Given the description of an element on the screen output the (x, y) to click on. 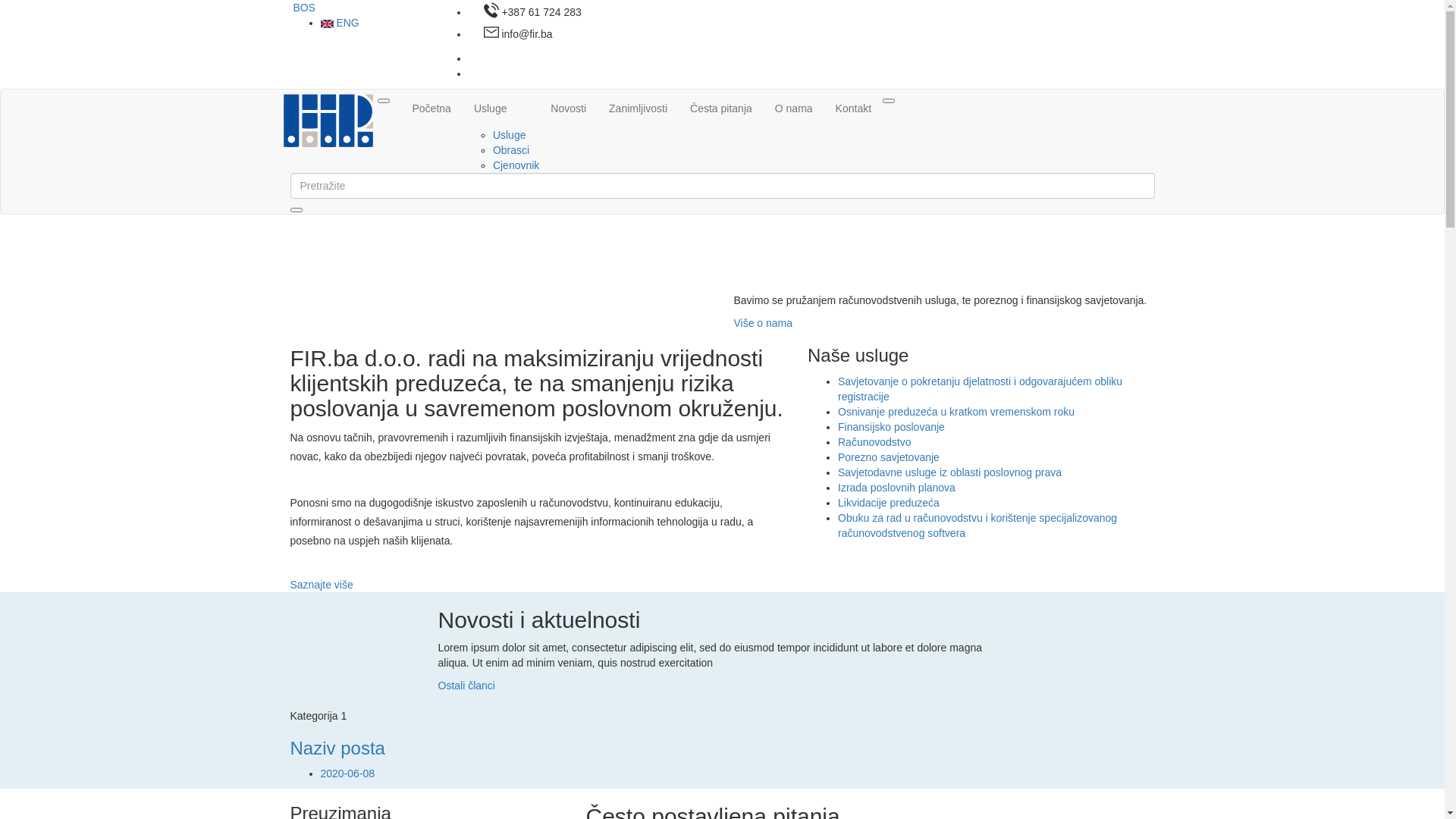
Naziv posta Element type: text (336, 747)
ENG Element type: text (339, 22)
Savjetodavne usluge iz oblasti poslovnog prava Element type: text (949, 472)
Porezno savjetovanje Element type: text (888, 457)
Kontakt Element type: text (853, 108)
Toggle navigation Element type: text (383, 100)
Cjenovnik Element type: text (515, 165)
BOS Element type: text (301, 7)
Zanimljivosti Element type: text (637, 108)
O nama Element type: text (793, 108)
Usluge Element type: text (509, 134)
2020-06-08 Element type: text (347, 773)
Izrada poslovnih planova Element type: text (896, 487)
Obrasci Element type: text (510, 150)
Usluge Element type: text (500, 108)
Finansijsko poslovanje Element type: text (890, 426)
Novosti Element type: text (568, 108)
